Given the description of an element on the screen output the (x, y) to click on. 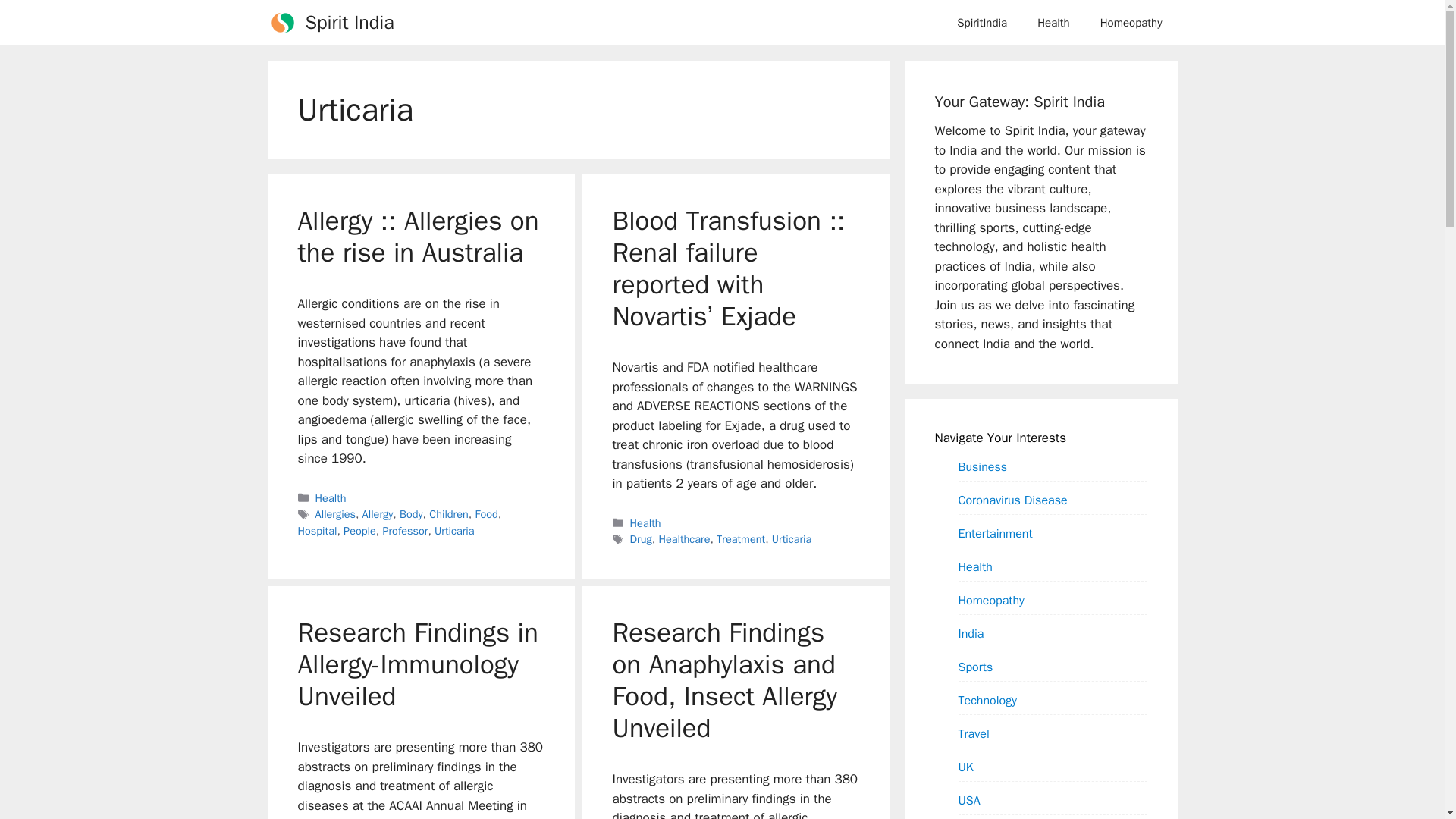
Professor (404, 530)
SpiritIndia (982, 22)
Health (1053, 22)
Drug (641, 539)
Urticaria (790, 539)
Allergies (335, 513)
Food (485, 513)
Allergy (377, 513)
Health (645, 522)
Urticaria (453, 530)
